Given the description of an element on the screen output the (x, y) to click on. 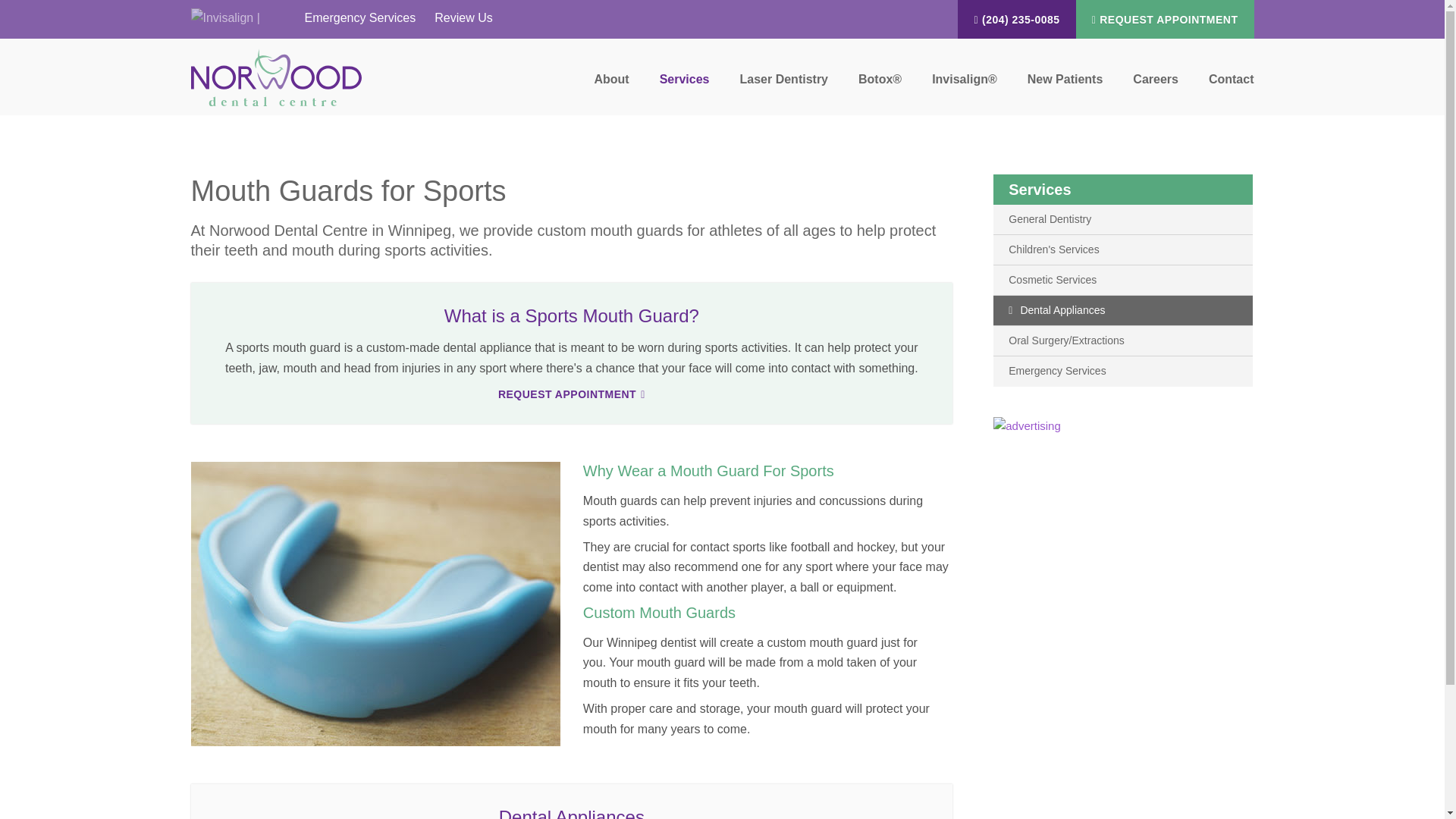
About (610, 88)
REQUEST APPOINTMENT (1164, 19)
Laser Dentistry (784, 88)
REQUEST APPOINTMENT (571, 394)
General Dentistry (1122, 219)
Children's Services (1122, 249)
Botox Treatment, Norwood Dental (880, 88)
Review Us (461, 16)
Emergency Services (356, 16)
Laser Dentistry (784, 88)
Review Us (461, 16)
Contact (1223, 88)
Services (685, 88)
Careers (1155, 88)
New Patients (1064, 88)
